Given the description of an element on the screen output the (x, y) to click on. 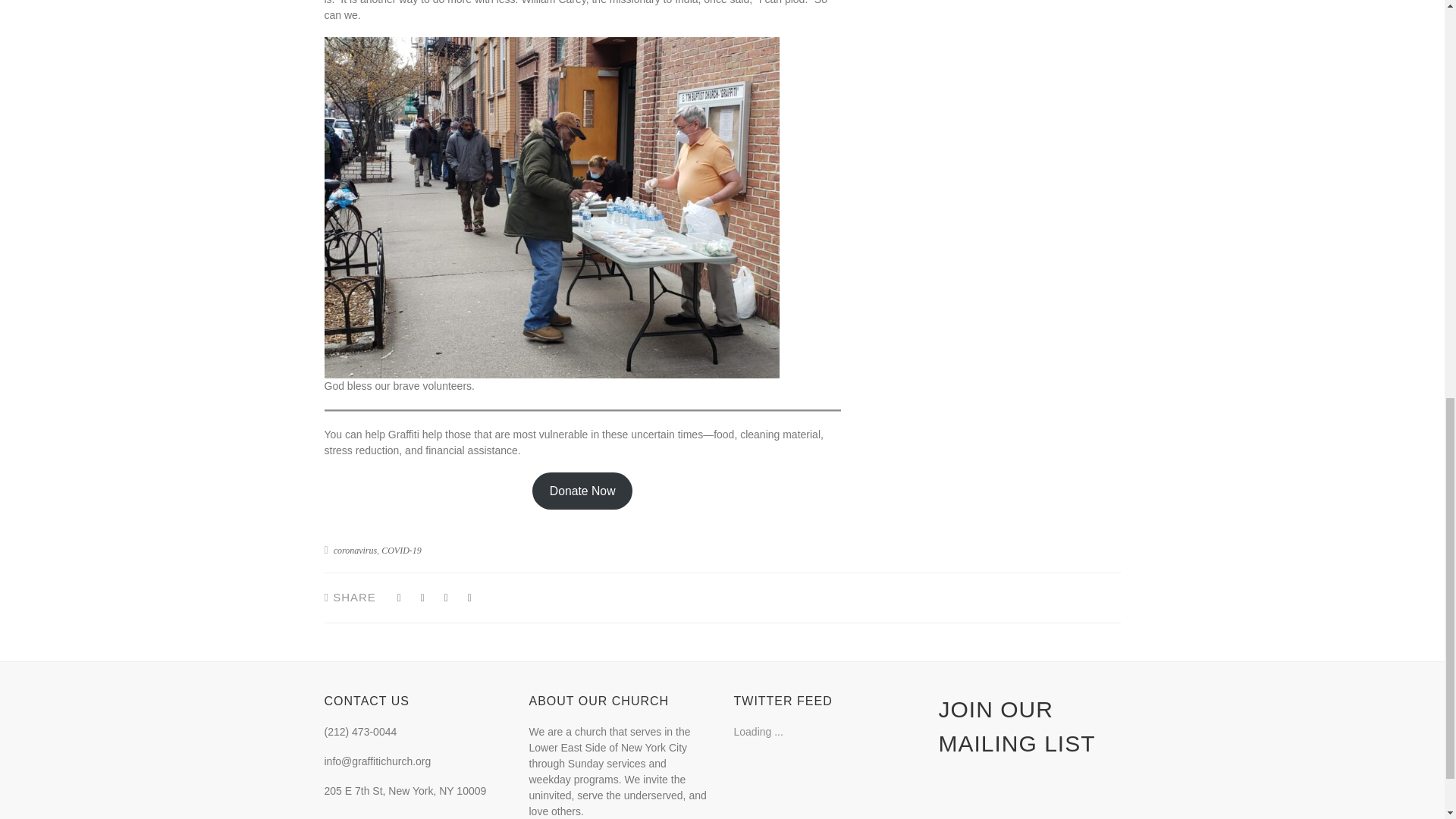
Email (469, 597)
Tweet (422, 597)
Share on Facebook (399, 597)
Donate Now (582, 490)
coronavirus (355, 550)
Share on Facebook (445, 597)
COVID-19 (401, 550)
